Given the description of an element on the screen output the (x, y) to click on. 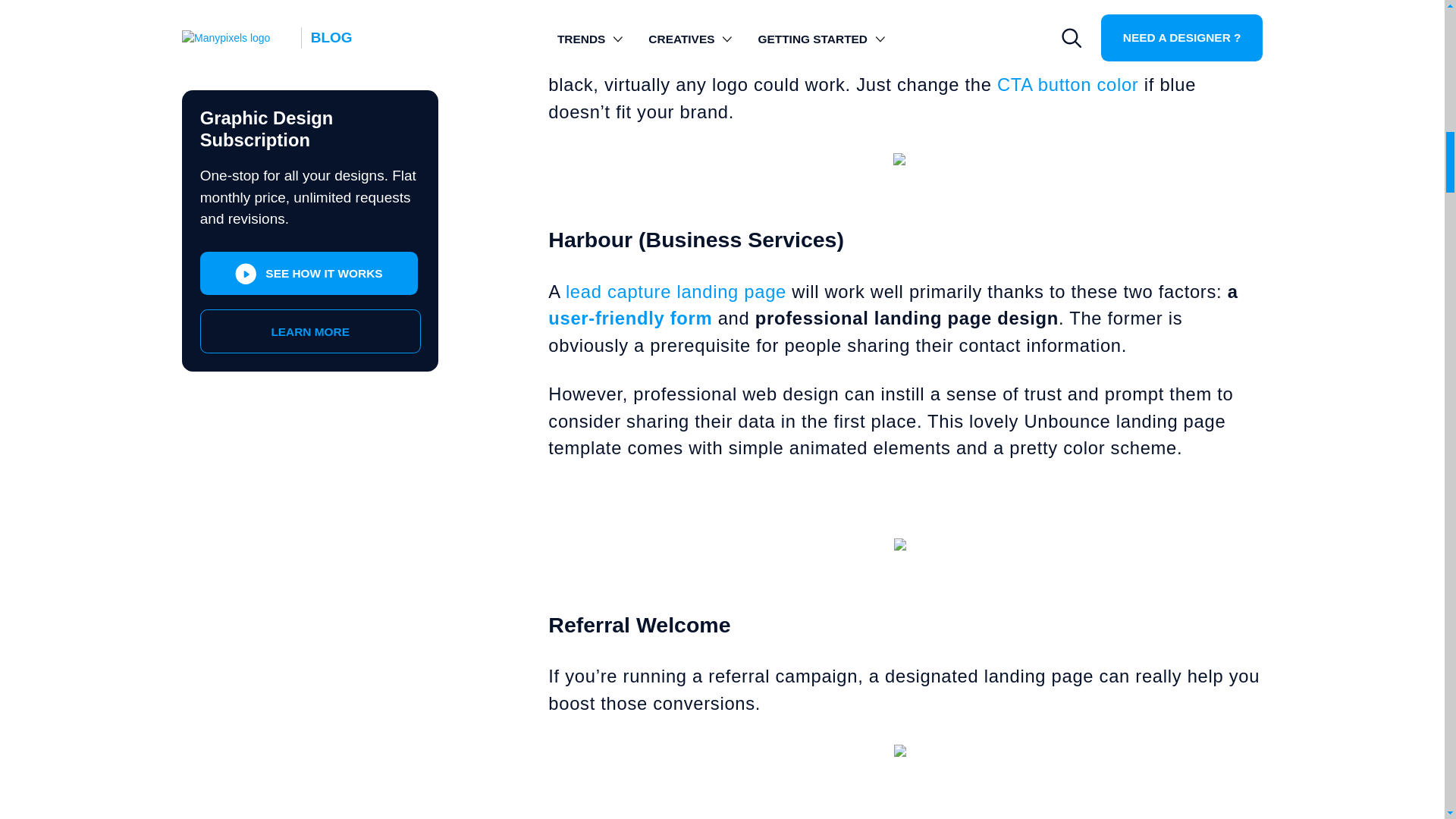
CTA button color (1067, 84)
user-friendly form (629, 317)
lead capture landing page (676, 291)
